Given the description of an element on the screen output the (x, y) to click on. 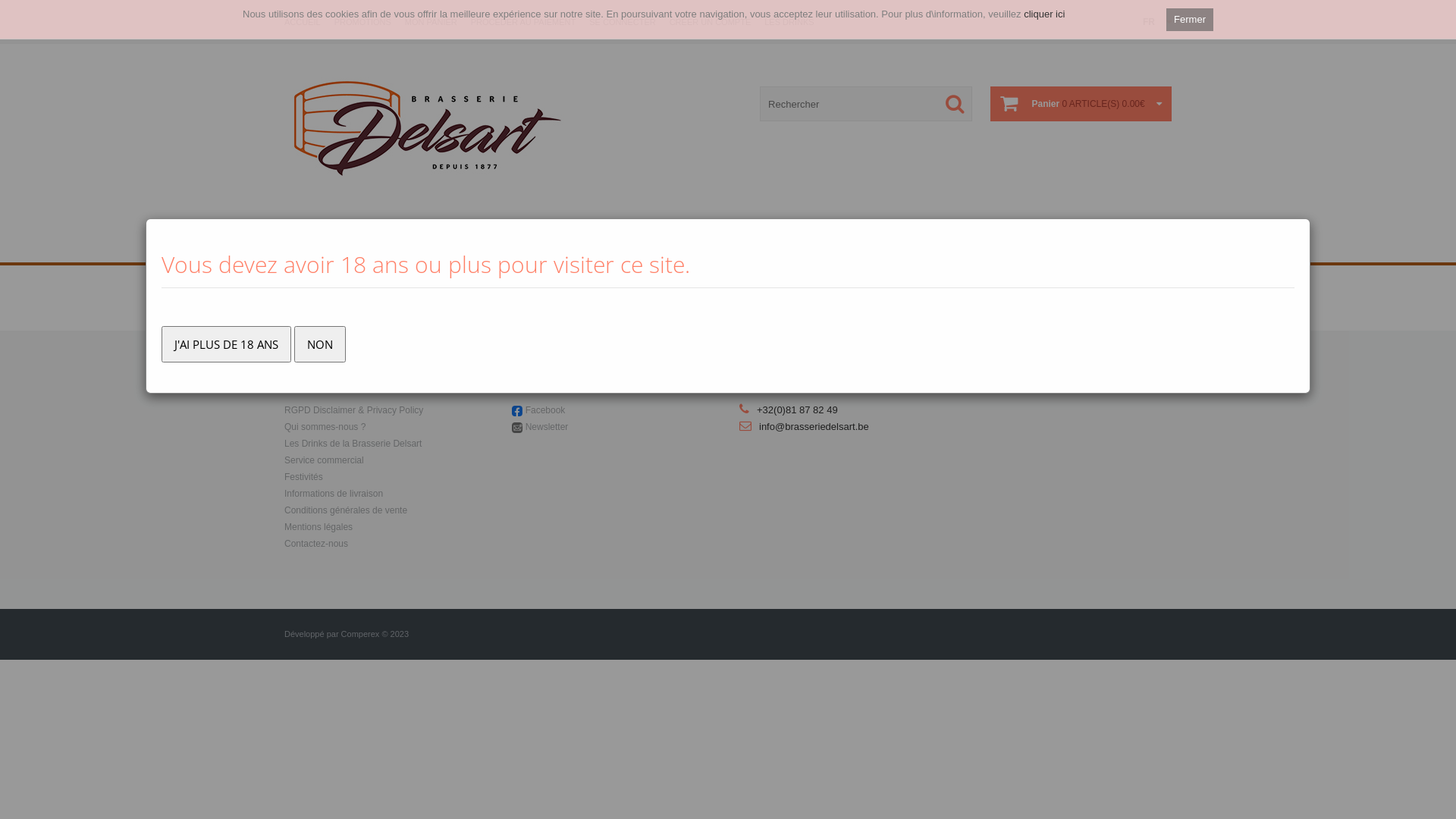
Vins Element type: text (575, 245)
 Brasserie Delsart  Element type: hover (427, 126)
ACCUEIL Element type: text (302, 21)
Facebook Element type: text (545, 409)
LES DRINKS Element type: text (788, 21)
Softs Element type: text (673, 245)
Contactez-nous Element type: text (316, 543)
Fermer Element type: text (1189, 19)
RGPD Disclaimer & Privacy Policy Element type: text (353, 409)
Comperex Element type: text (360, 633)
Colis et Accessoires Element type: text (900, 245)
SE CONNECTER Element type: text (622, 21)
Newsletter Element type: text (546, 426)
PROMOTIONS Element type: text (362, 21)
Alcools Element type: text (623, 245)
MON PANIER Element type: text (430, 21)
J'AI PLUS DE 18 ANS Element type: text (226, 344)
Qui sommes-nous ? Element type: text (324, 426)
Service commercial Element type: text (324, 460)
Informations de livraison Element type: text (333, 493)
Les Drinks de la Brasserie Delsart Element type: text (352, 443)
Boissons Chaudes et Food Element type: text (769, 245)
info@brasseriedelsart.be Element type: text (814, 426)
cliquer ici Element type: text (1043, 13)
+32(0)81 87 82 49 Element type: text (796, 409)
NON Element type: text (319, 344)
